Given the description of an element on the screen output the (x, y) to click on. 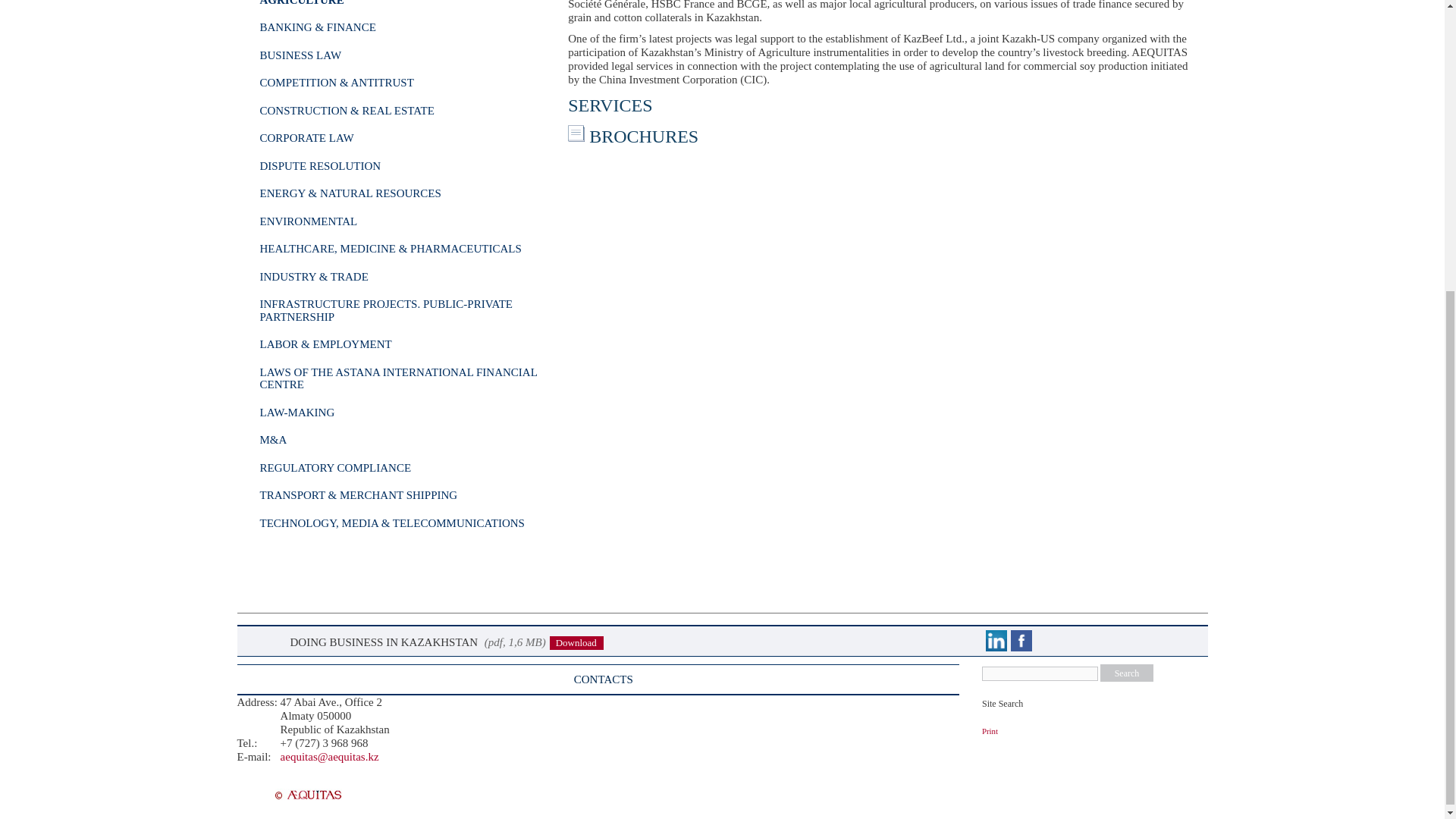
LAWS OF THE ASTANA INTERNATIONAL FINANCIAL CENTRE (398, 378)
BUSINESS LAW (299, 55)
REGULATORY COMPLIANCE (334, 467)
LAW-MAKING (296, 412)
ENVIRONMENTAL (307, 221)
Search (1126, 672)
INFRASTRUCTURE PROJECTS. PUBLIC-PRIVATE PARTNERSHIP (385, 310)
CORPORATE LAW (306, 137)
AGRICULTURE (301, 2)
Download (577, 642)
DISPUTE RESOLUTION (319, 165)
